Given the description of an element on the screen output the (x, y) to click on. 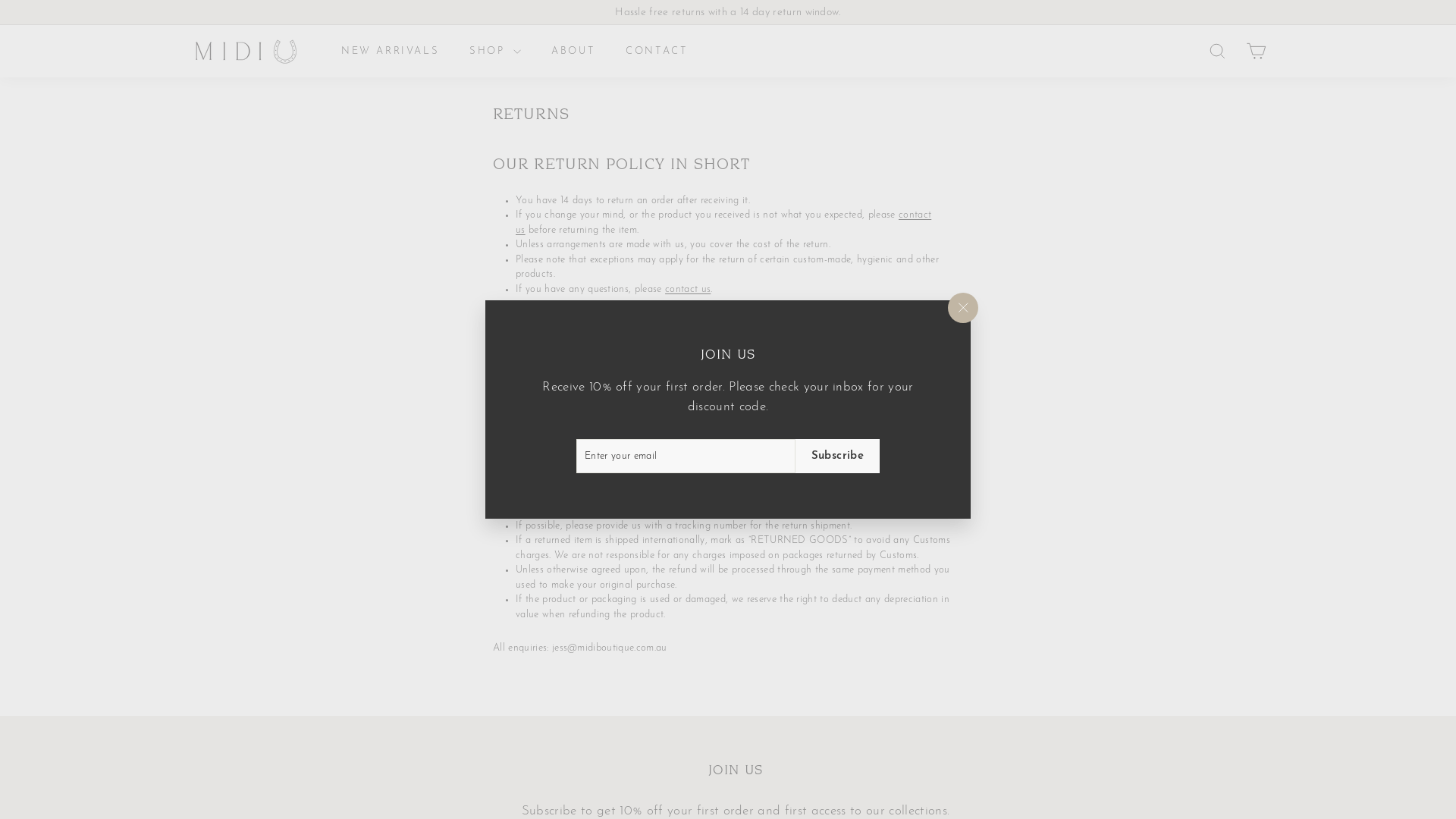
Terms and Conditions Element type: text (725, 322)
contact us Element type: text (723, 222)
Subscribe Element type: text (837, 456)
"Close (esc)" Element type: text (962, 307)
CART Element type: text (1255, 50)
CONTACT Element type: text (656, 51)
return form Element type: text (676, 451)
NEW ARRIVALS Element type: text (390, 51)
SEARCH Element type: text (1217, 50)
contact us Element type: text (687, 289)
ABOUT Element type: text (573, 51)
